Given the description of an element on the screen output the (x, y) to click on. 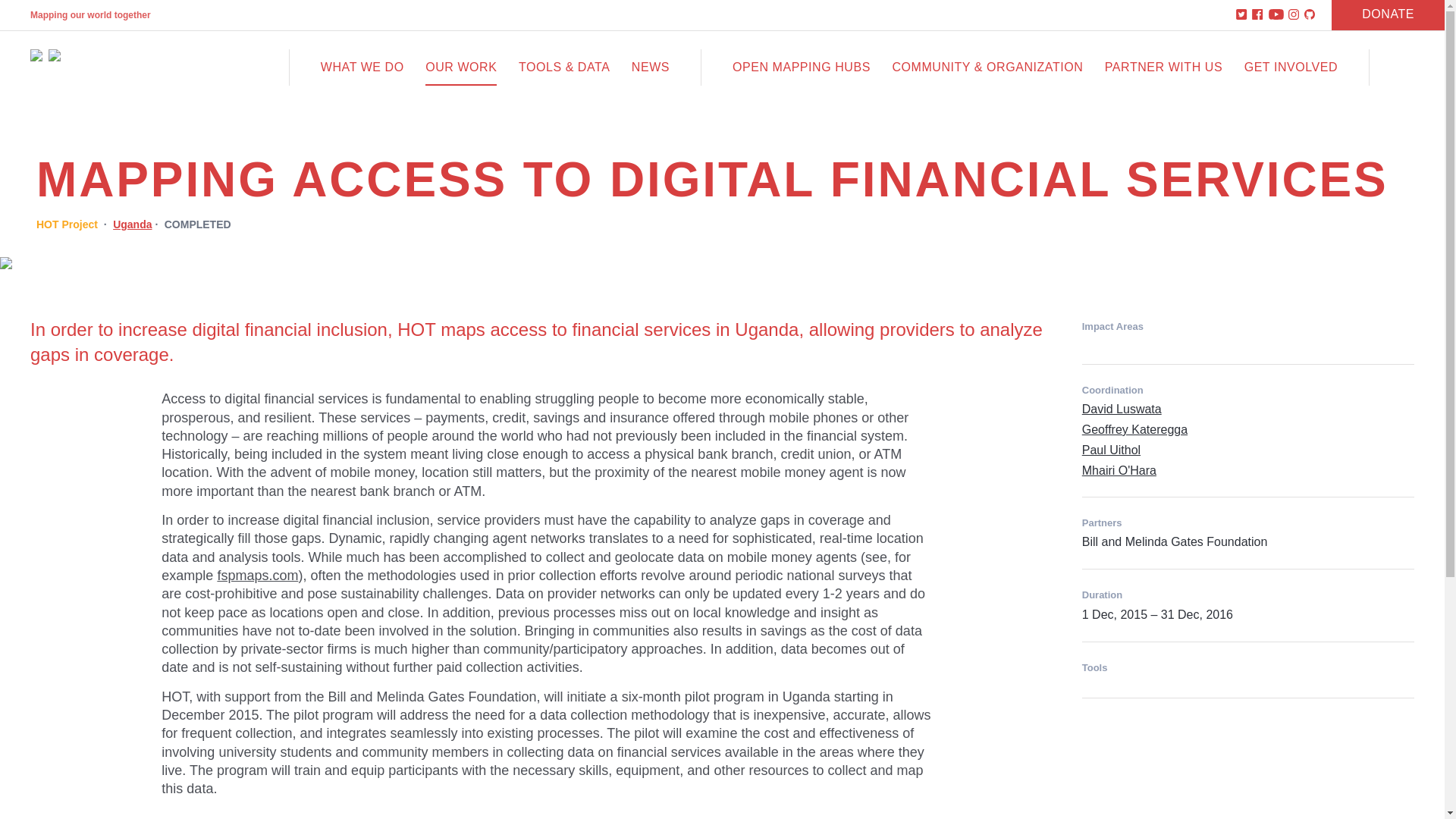
David Luswata (1121, 408)
Geoffrey Kateregga (1134, 429)
Instagram (1293, 15)
Twitter (1241, 15)
OPEN MAPPING HUBS (801, 67)
Search (1406, 67)
NEWS (650, 67)
Mhairi O'Hara (1118, 470)
PARTNER WITH US (1164, 67)
GET INVOLVED (1291, 67)
GitHub (1310, 15)
OUR WORK (460, 67)
fspmaps.com (257, 575)
YouTube (1276, 15)
Uganda (132, 224)
